Given the description of an element on the screen output the (x, y) to click on. 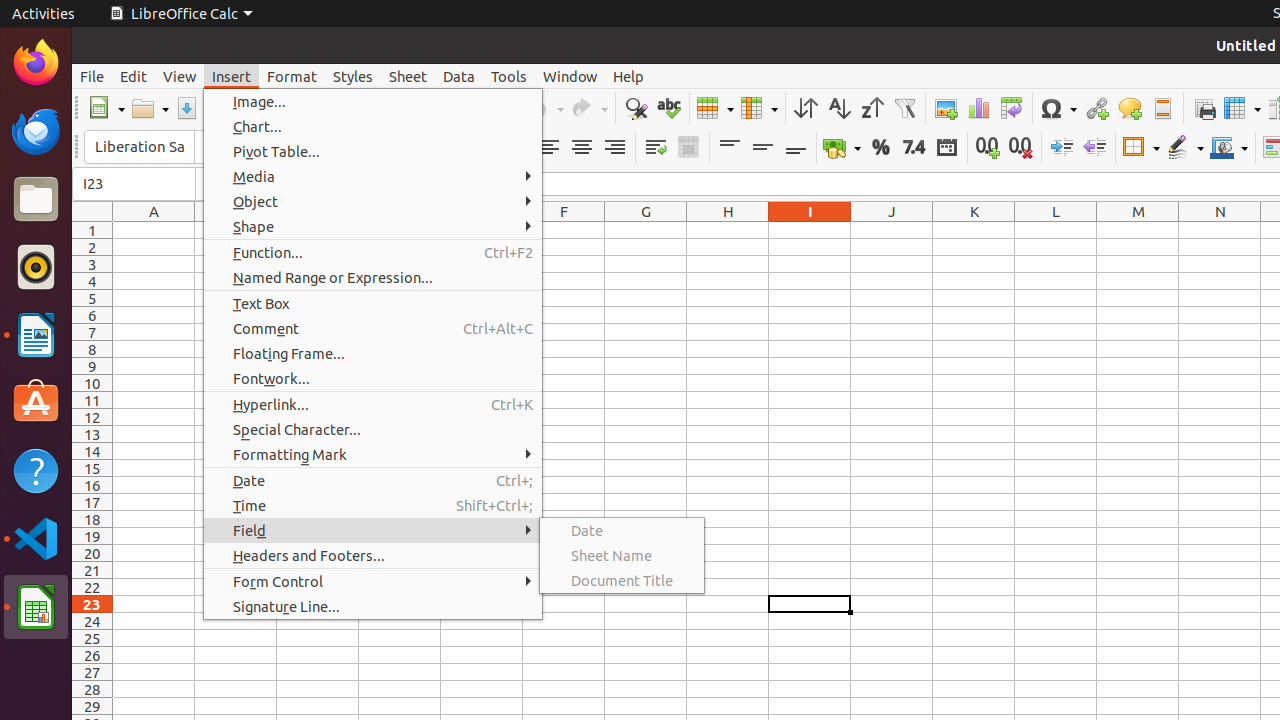
Column Element type: push-button (759, 108)
G1 Element type: table-cell (646, 230)
L1 Element type: table-cell (1056, 230)
Font Name Element type: text (139, 147)
